Given the description of an element on the screen output the (x, y) to click on. 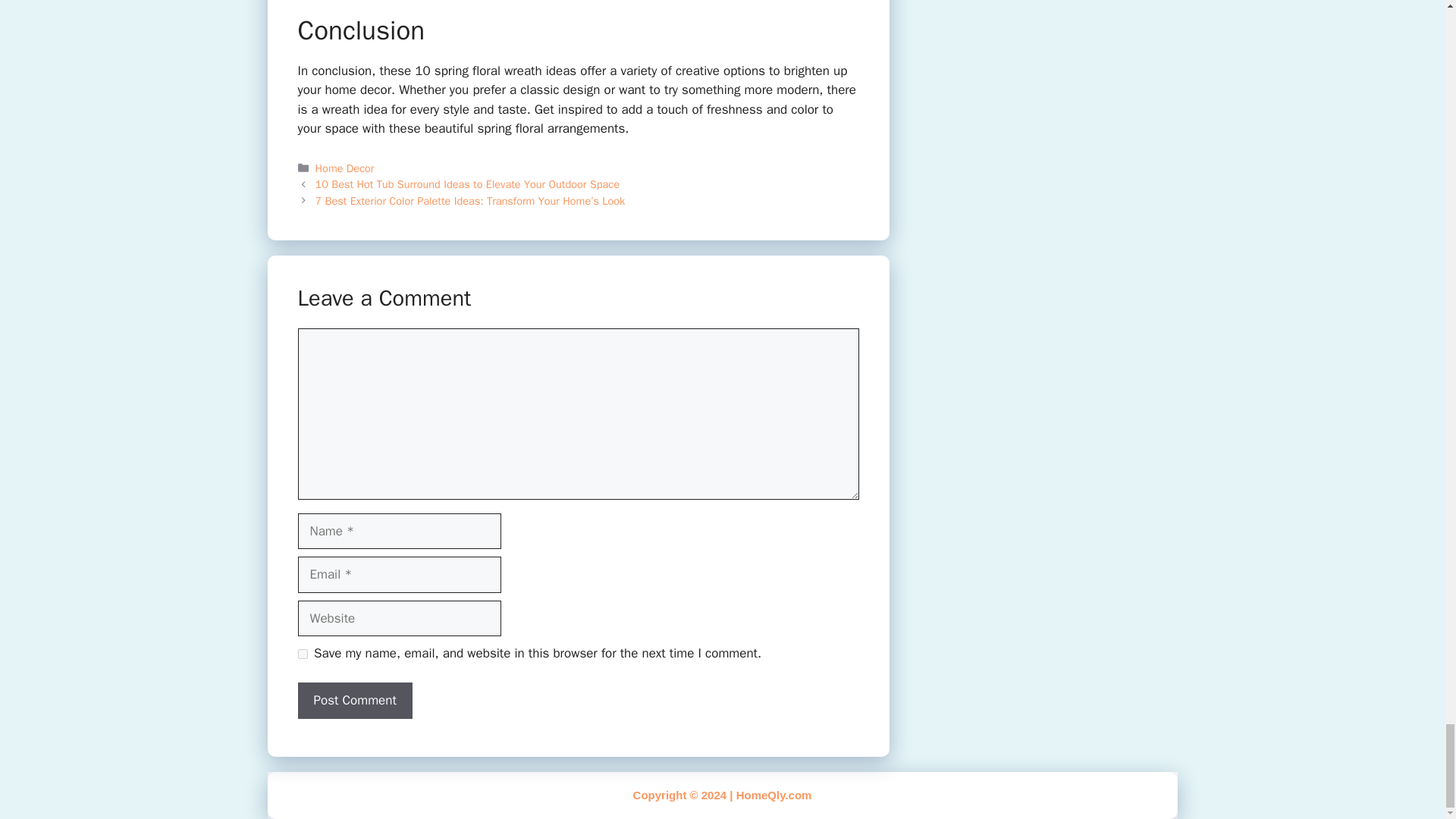
Post Comment (354, 700)
Post Comment (354, 700)
10 Best Hot Tub Surround Ideas to Elevate Your Outdoor Space (467, 183)
Home Decor (344, 168)
yes (302, 654)
